Given the description of an element on the screen output the (x, y) to click on. 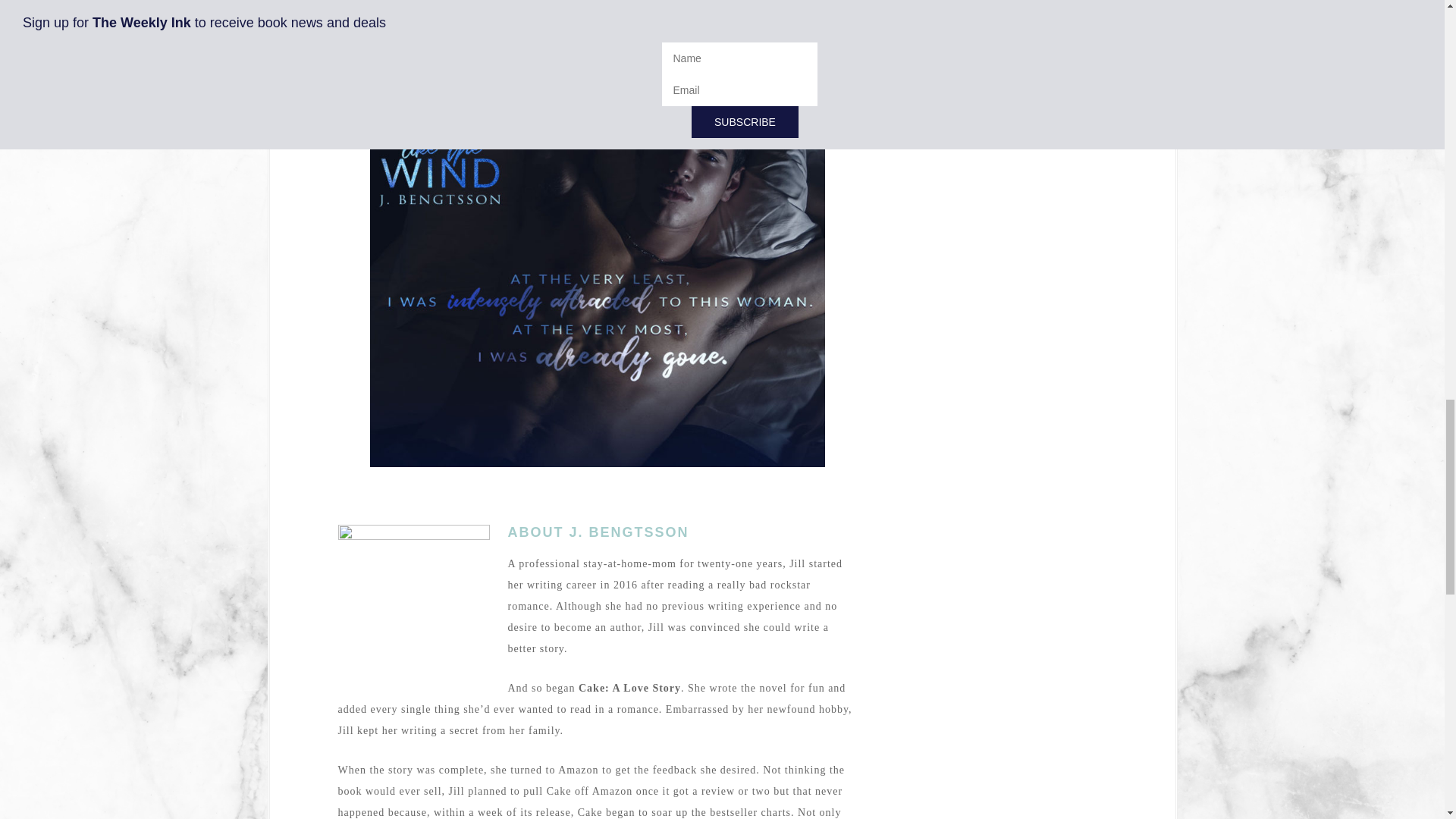
AUDIBLE (646, 81)
AMAZON (547, 81)
ADD LIKE THE WIND TO YOUR GOODREADS TBR! (597, 2)
